Given the description of an element on the screen output the (x, y) to click on. 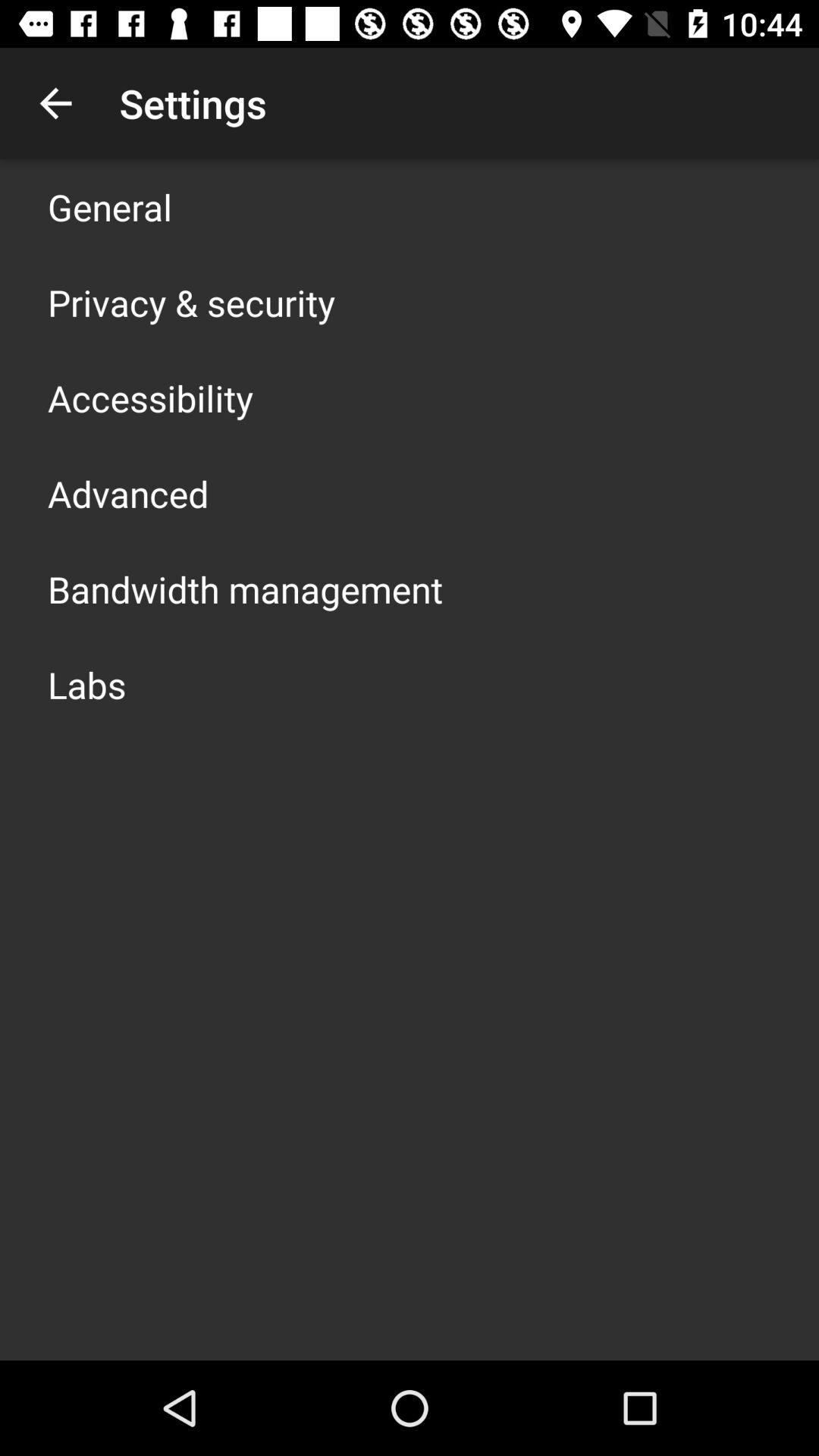
turn on the app above the general app (55, 103)
